Given the description of an element on the screen output the (x, y) to click on. 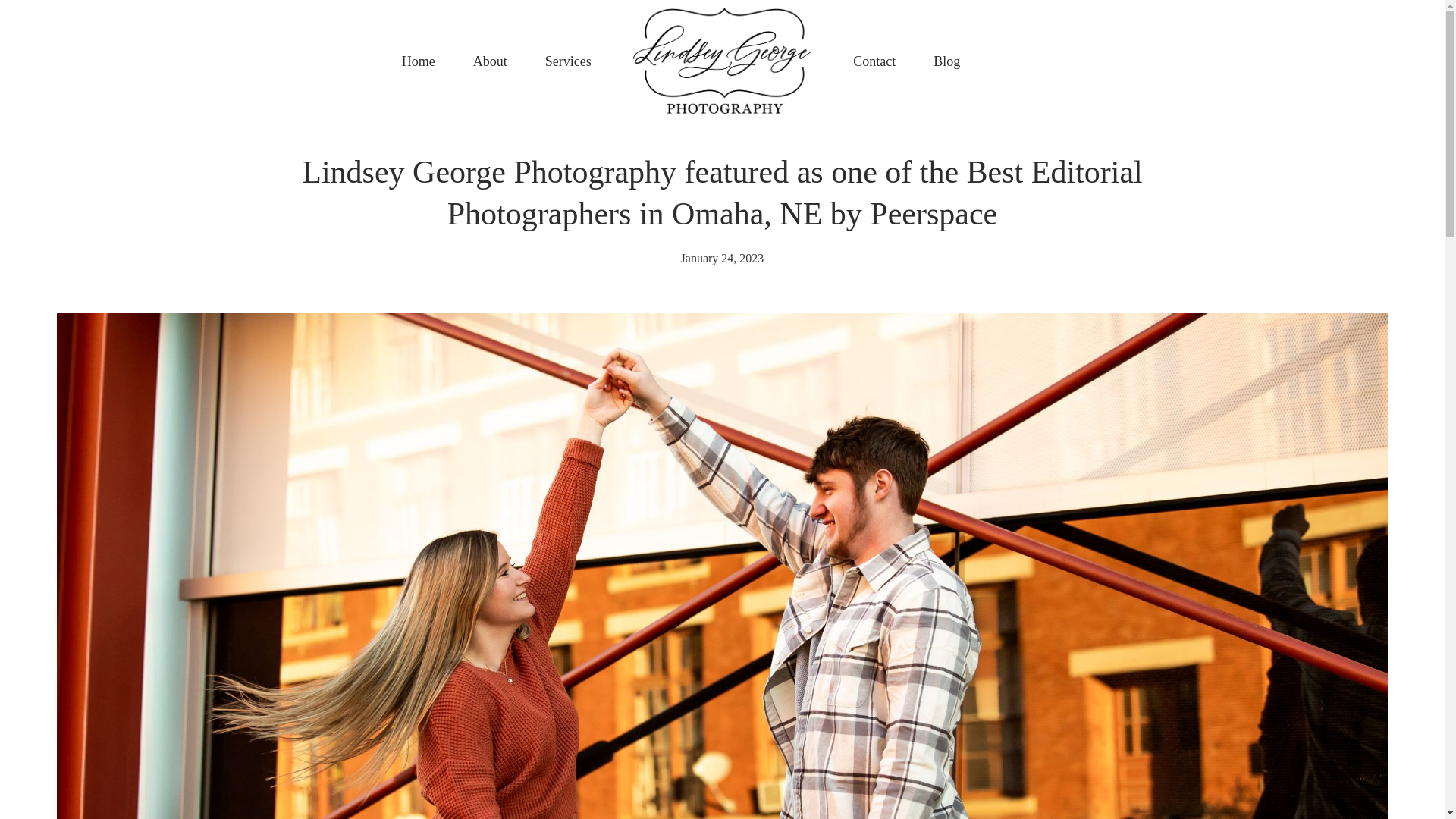
Blog (946, 61)
Contact (874, 61)
Services (567, 61)
About (489, 61)
Home (418, 61)
